Given the description of an element on the screen output the (x, y) to click on. 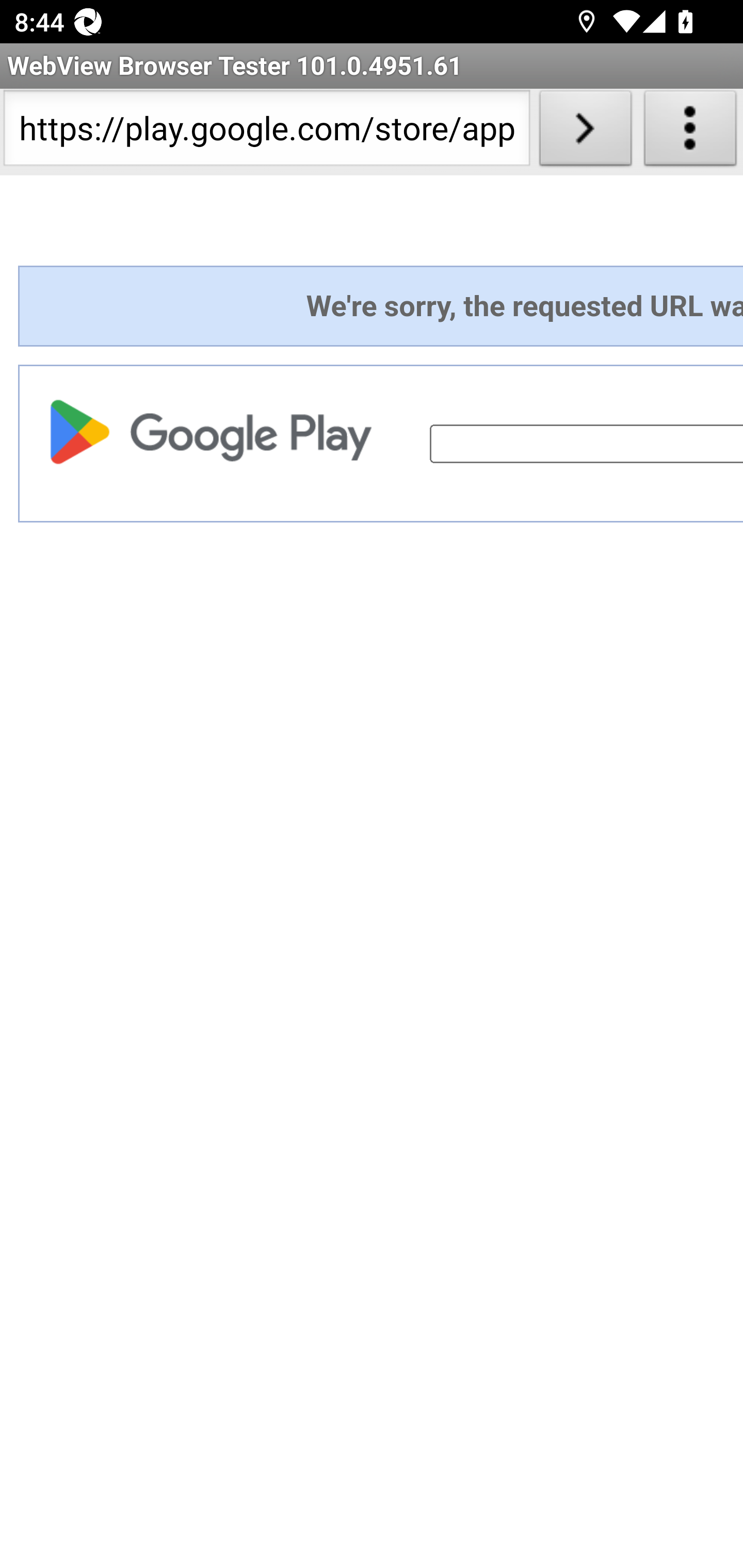
Load URL (585, 132)
About WebView (690, 132)
Google Play (216, 431)
